Given the description of an element on the screen output the (x, y) to click on. 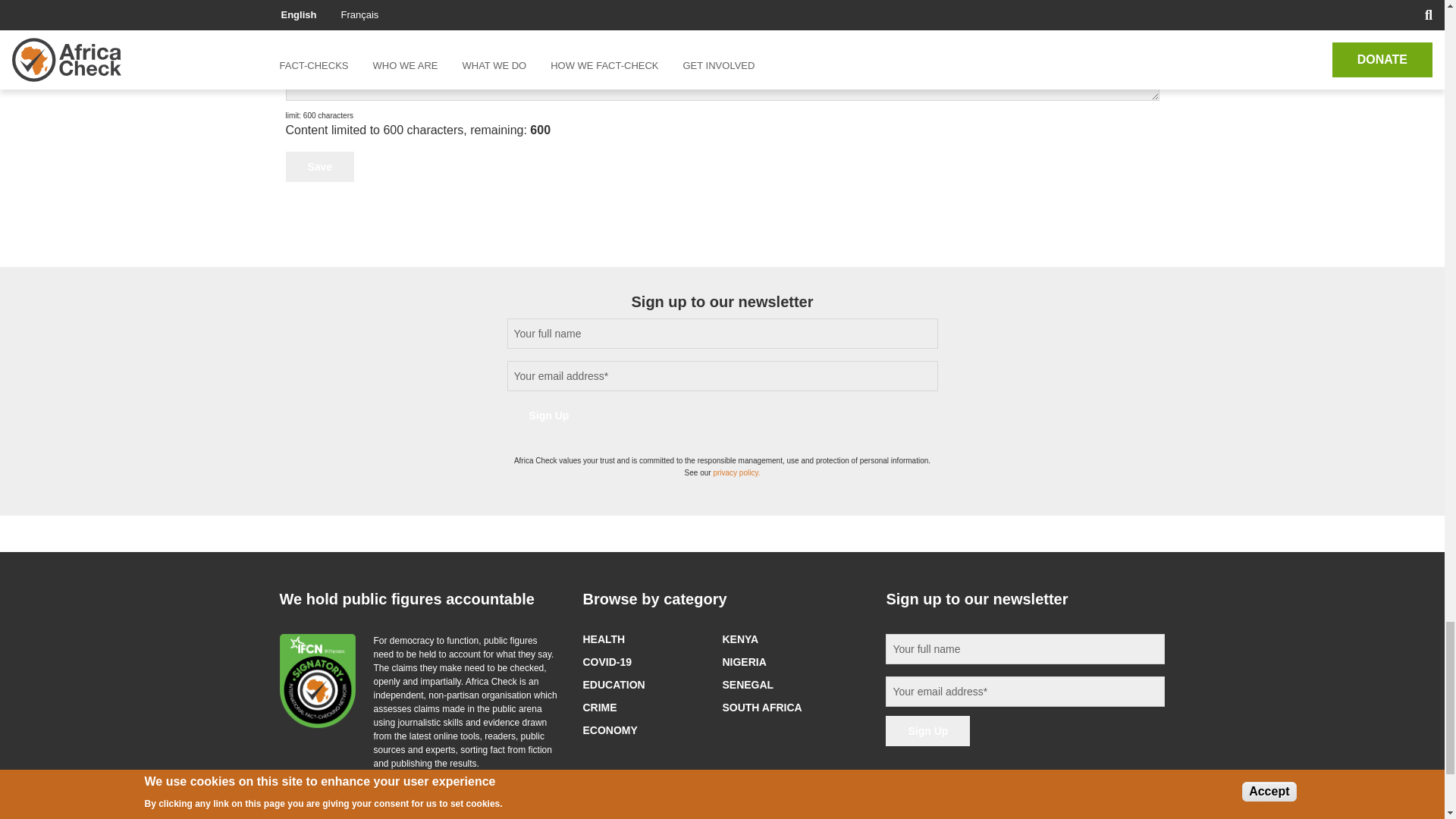
Sign Up (548, 415)
Sign Up (927, 730)
Save (319, 166)
